Given the description of an element on the screen output the (x, y) to click on. 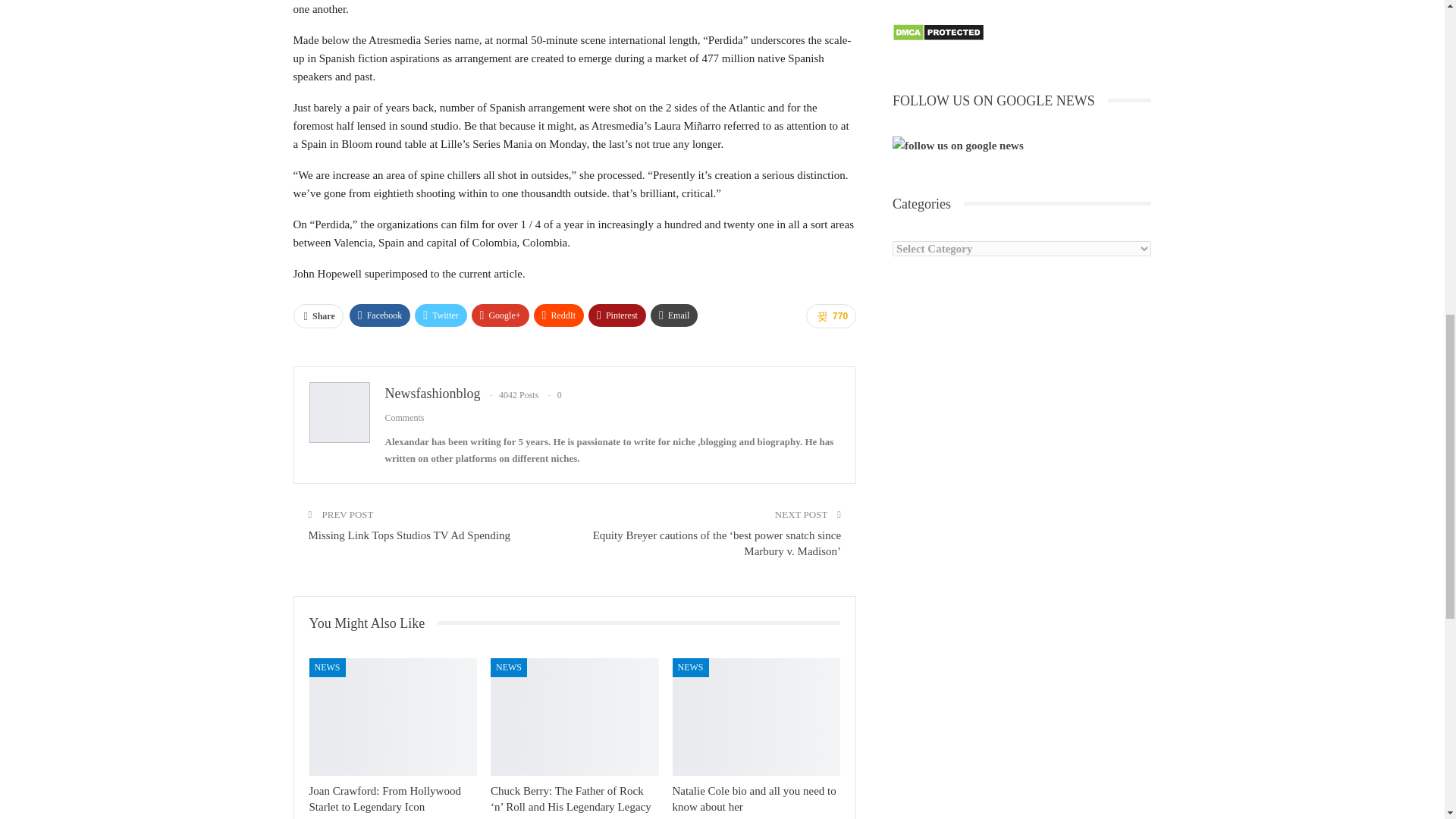
Facebook (379, 314)
Pinterest (617, 314)
Joan Crawford: From Hollywood Starlet to Legendary Icon (384, 798)
DMCA.com Protection Status (938, 33)
Twitter (439, 314)
ReddIt (559, 314)
Joan Crawford: From Hollywood Starlet to Legendary Icon (392, 716)
Natalie Cole bio and all you need to know about her (753, 798)
Natalie Cole bio and all you need to know about her (756, 716)
